Given the description of an element on the screen output the (x, y) to click on. 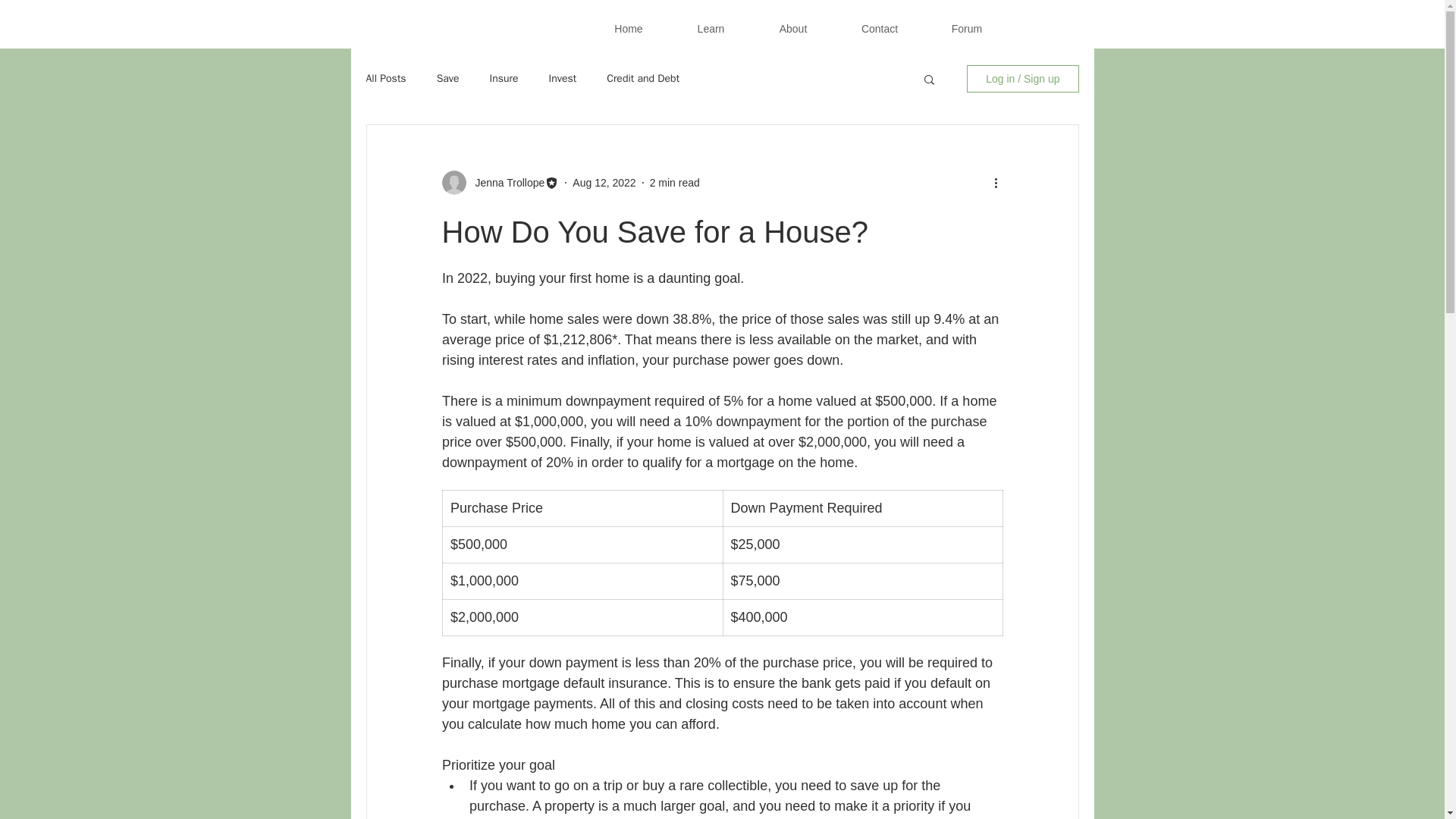
Learn (710, 28)
Forum (966, 28)
All Posts (385, 78)
Aug 12, 2022 (603, 182)
Insure (503, 78)
Home (627, 28)
Contact (879, 28)
Credit and Debt (643, 78)
Invest (562, 78)
Save (448, 78)
